Given the description of an element on the screen output the (x, y) to click on. 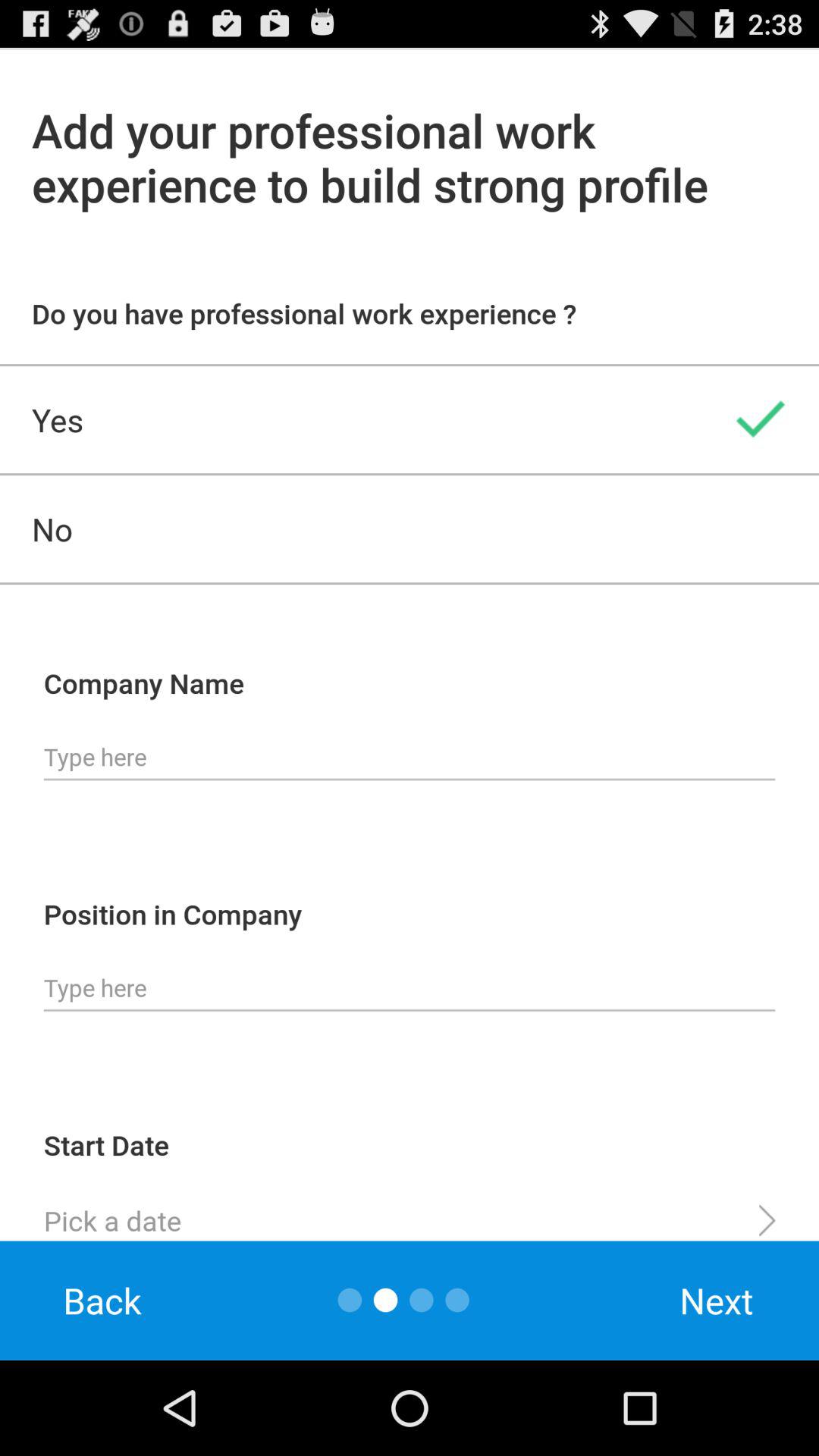
select the yes item (409, 419)
